Given the description of an element on the screen output the (x, y) to click on. 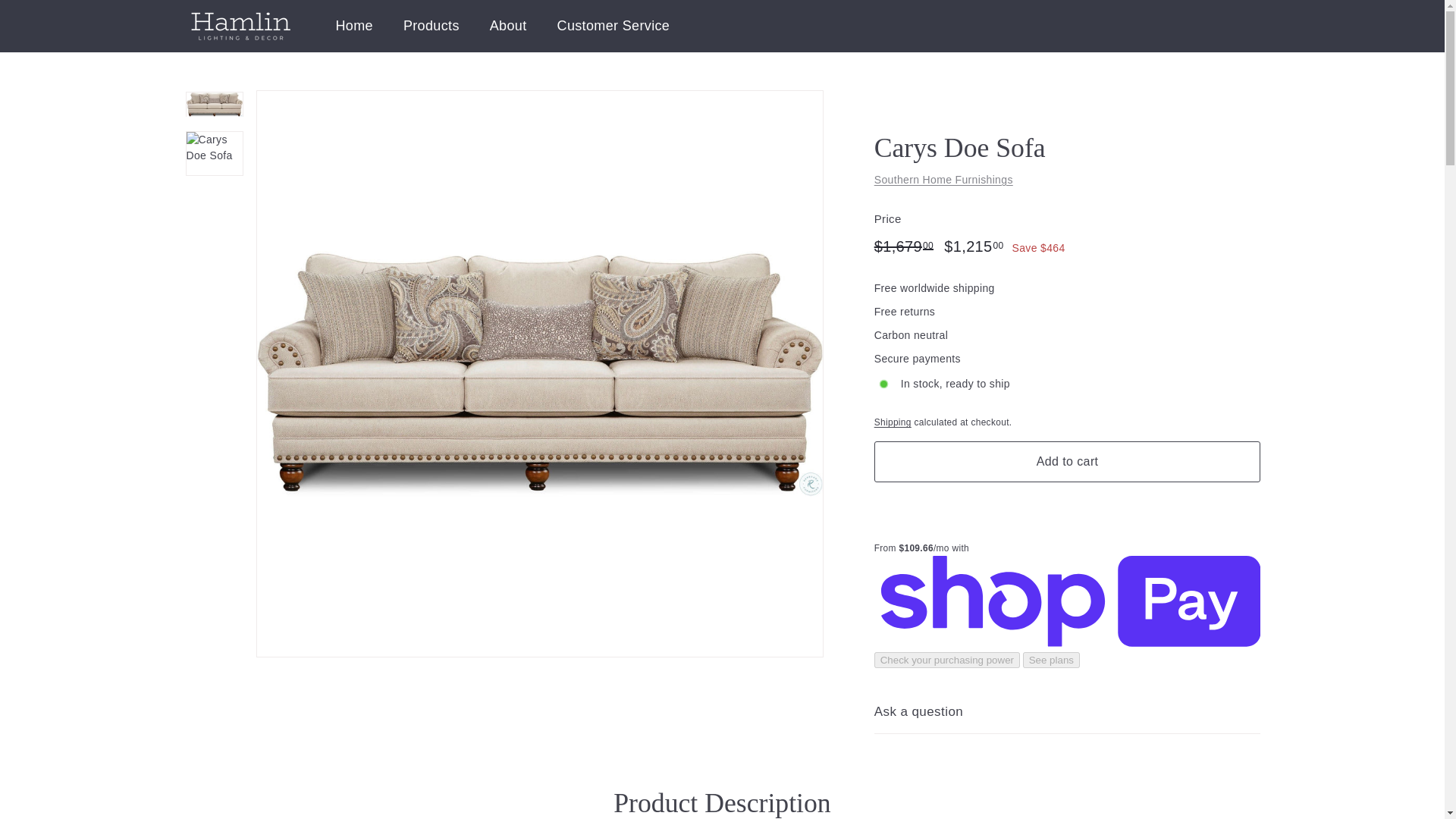
Home (353, 26)
About (507, 26)
Southern Home Furnishings (944, 179)
